Given the description of an element on the screen output the (x, y) to click on. 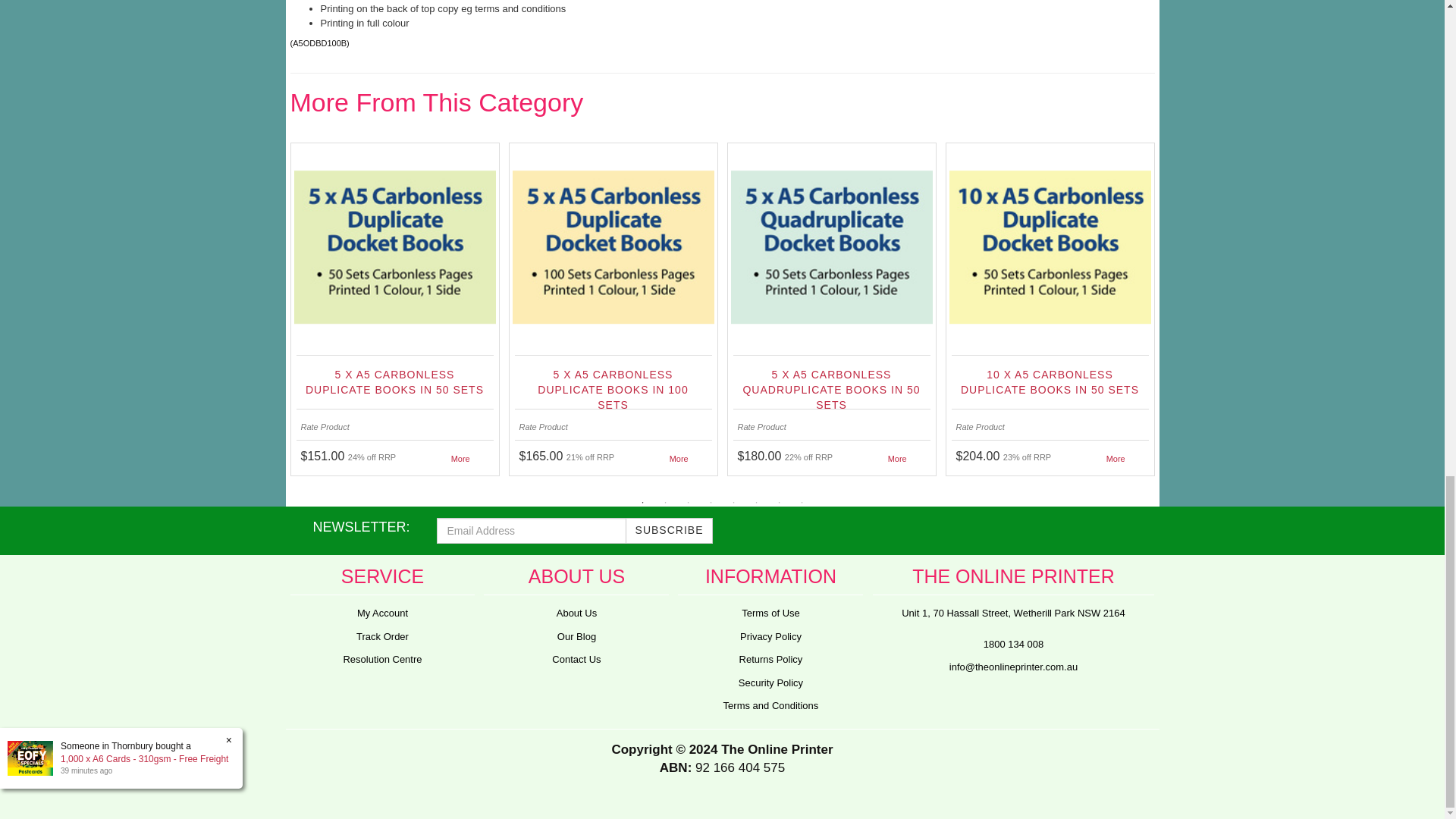
10 x A5 Carbonless Duplicate Books in 50 sets (1048, 383)
Buying Options (460, 457)
Subscribe (669, 530)
Buying Options (1115, 457)
Buying Options (897, 457)
5 x A5 Carbonless Duplicate Books in 50 sets (393, 383)
5 x A5 Carbonless Duplicate Books in 100 sets (612, 383)
5 x A5 Carbonless Quadruplicate Books in 50 sets (830, 383)
Buying Options (678, 457)
